Given the description of an element on the screen output the (x, y) to click on. 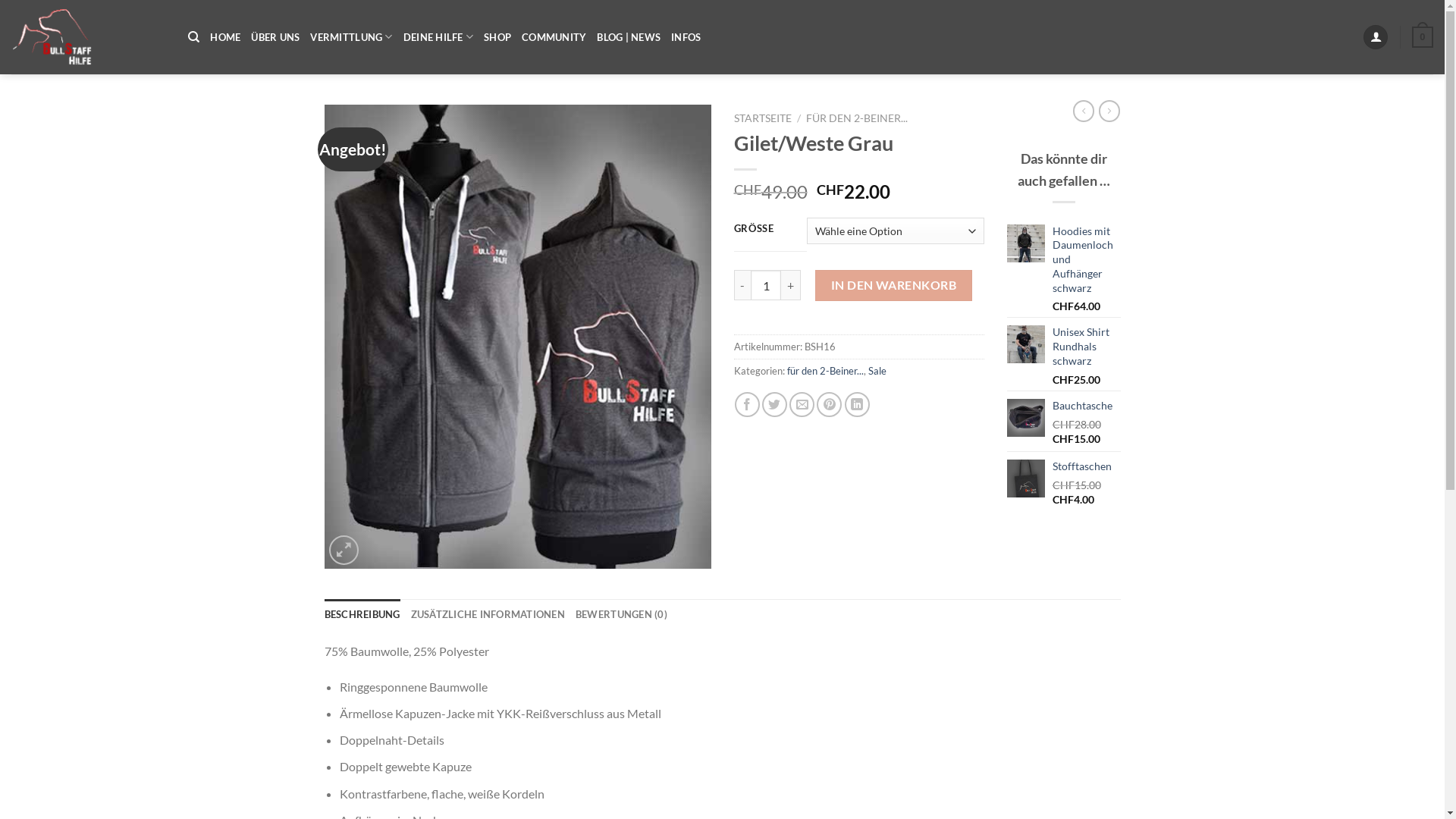
HOME Element type: text (225, 36)
BullStaff Hilfe - Kein Rass(en)ismus Element type: hover (88, 37)
0 Element type: text (1422, 36)
Stofftaschen Element type: text (1086, 466)
Gilet Element type: hover (517, 336)
INFOS Element type: text (685, 36)
BLOG | NEWS Element type: text (628, 36)
DEINE HILFE Element type: text (438, 36)
STARTSEITE Element type: text (762, 118)
BEWERTUNGEN (0) Element type: text (621, 614)
VERMITTLUNG Element type: text (351, 36)
IN DEN WARENKORB Element type: text (893, 284)
Sale Element type: text (876, 370)
Bauchtasche Element type: text (1086, 405)
Menge Element type: hover (765, 284)
COMMUNITY Element type: text (553, 36)
SHOP Element type: text (497, 36)
Unisex Shirt Rundhals schwarz Element type: text (1086, 346)
BESCHREIBUNG Element type: text (362, 614)
